Given the description of an element on the screen output the (x, y) to click on. 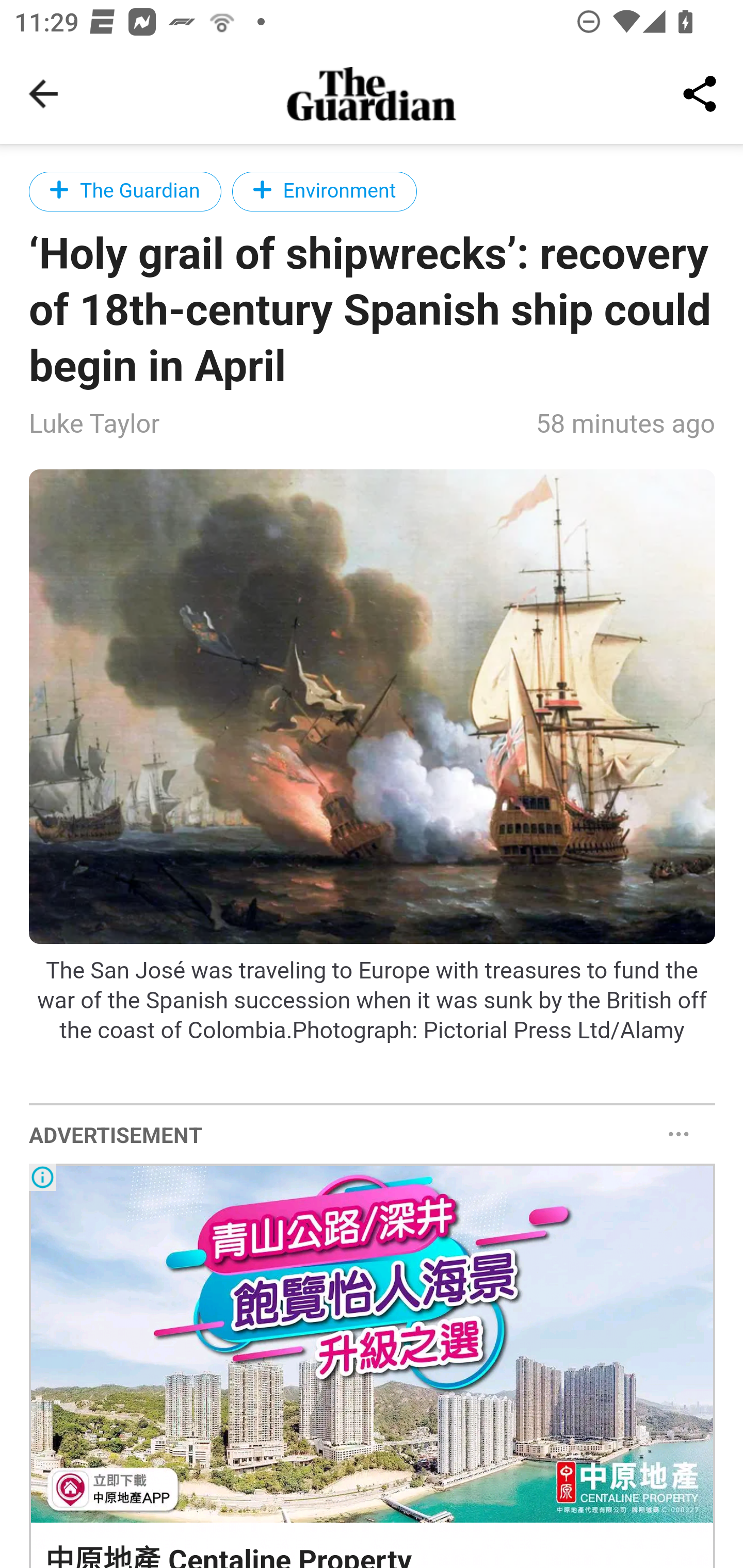
The Guardian (125, 191)
Environment (325, 191)
